Given the description of an element on the screen output the (x, y) to click on. 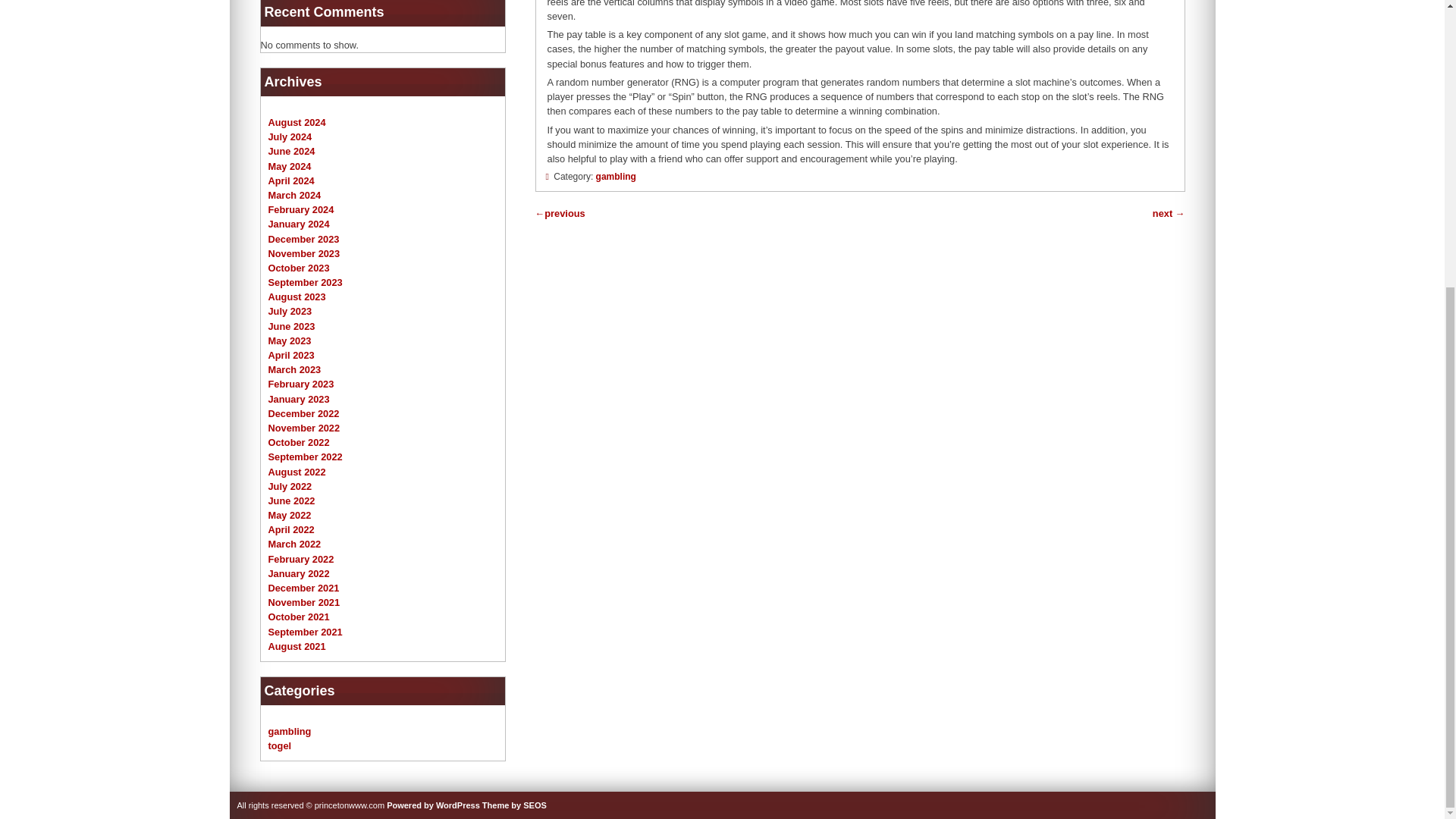
November 2022 (303, 428)
January 2023 (298, 398)
June 2023 (291, 326)
gambling (615, 176)
October 2023 (298, 267)
April 2024 (290, 180)
September 2023 (304, 282)
February 2024 (300, 209)
August 2024 (296, 122)
July 2024 (290, 136)
